Given the description of an element on the screen output the (x, y) to click on. 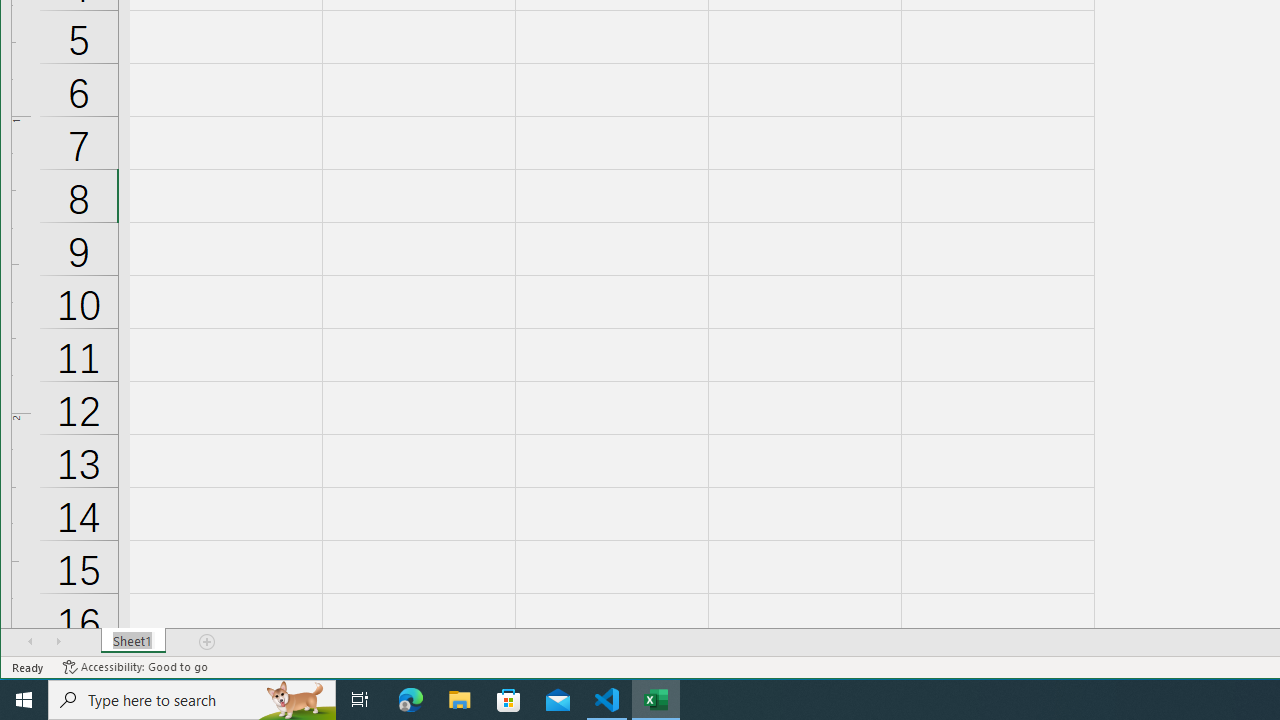
Excel - 1 running window (656, 699)
Microsoft Store (509, 699)
Sheet Tab (133, 641)
Start (24, 699)
File Explorer (460, 699)
Task View (359, 699)
Type here to search (191, 699)
Visual Studio Code - 1 running window (607, 699)
Microsoft Edge (411, 699)
Search highlights icon opens search home window (295, 699)
